Given the description of an element on the screen output the (x, y) to click on. 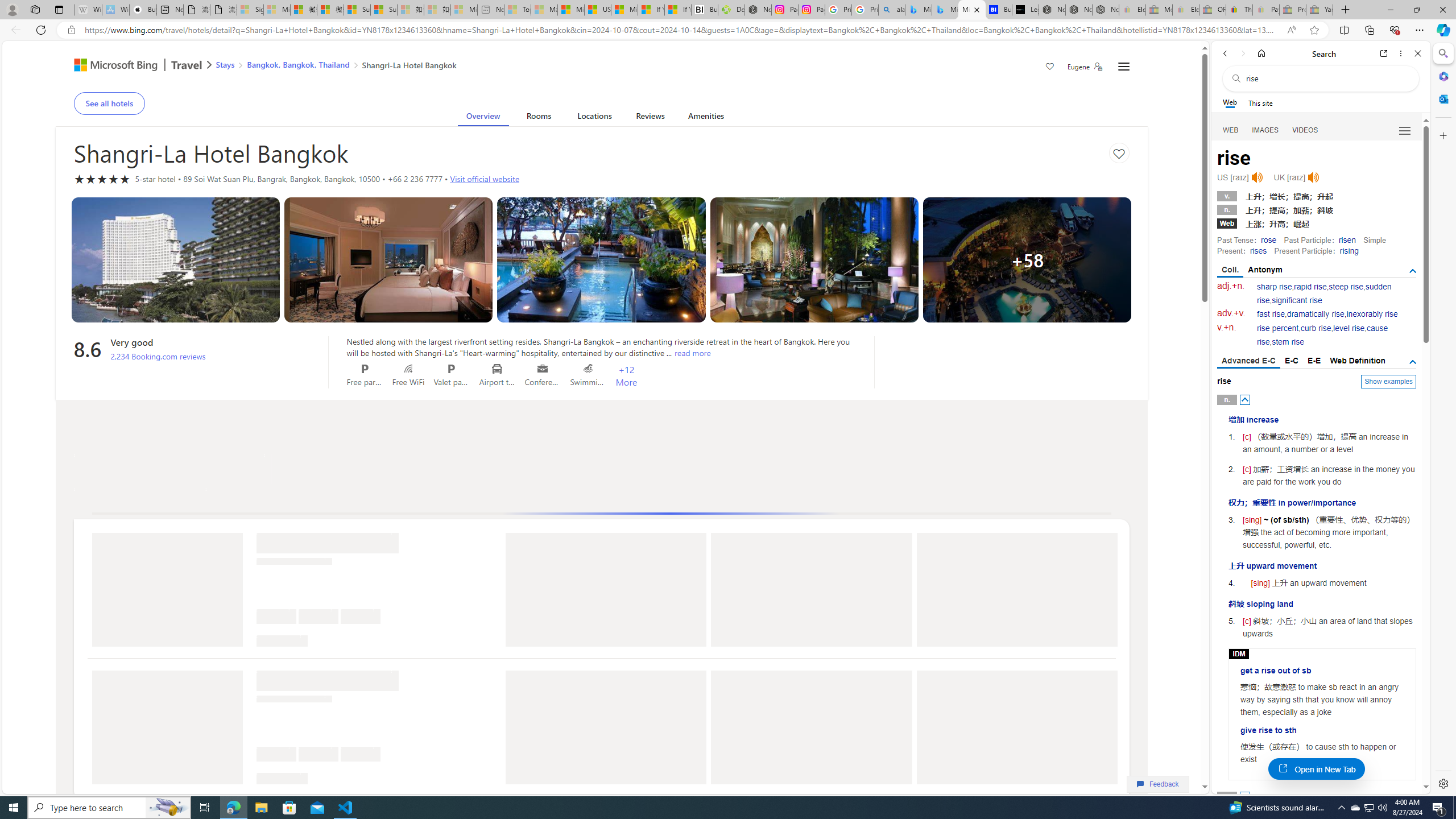
Save (1049, 67)
inexorably rise (1371, 313)
